Given the description of an element on the screen output the (x, y) to click on. 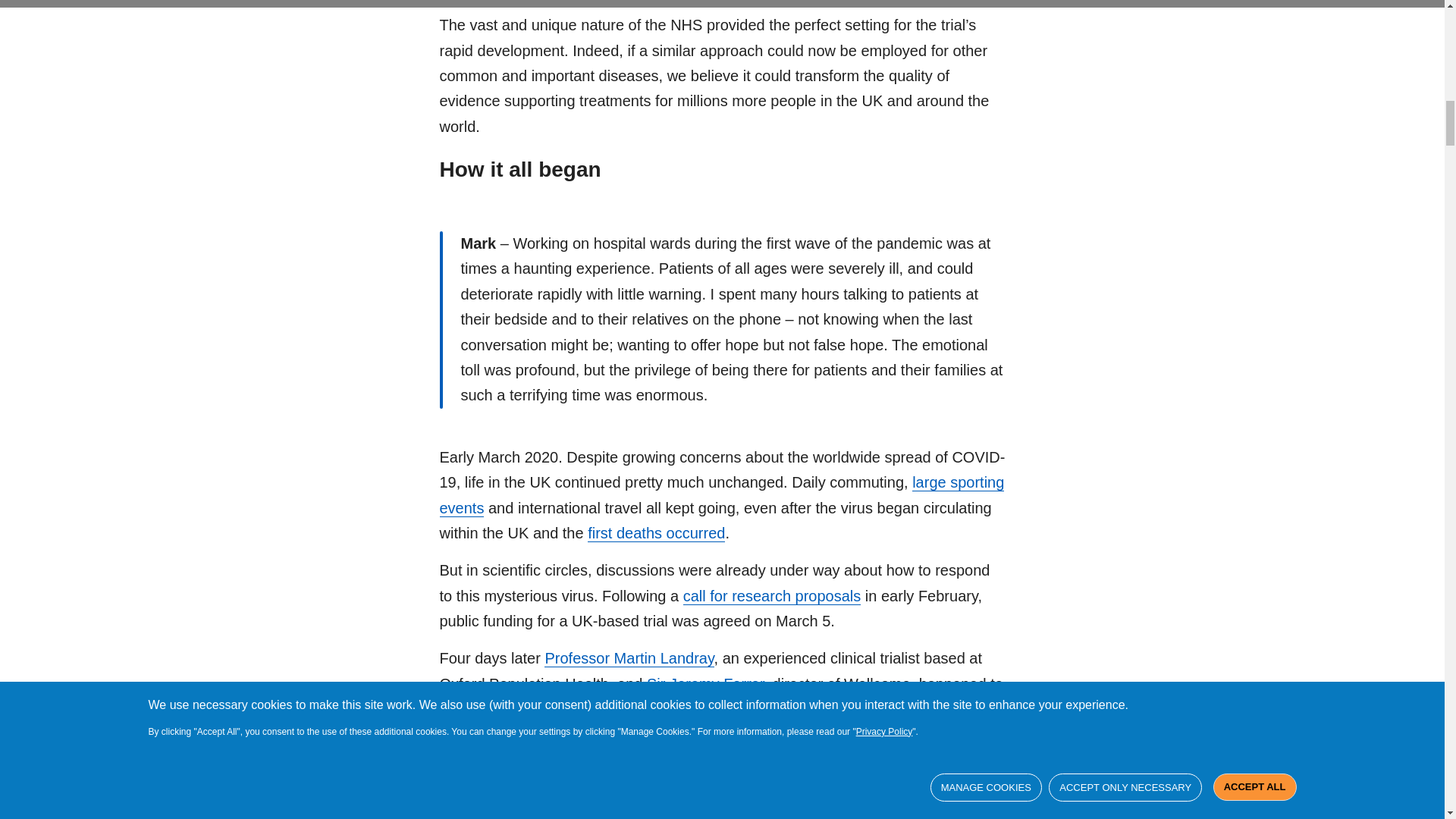
first deaths occurred (656, 533)
large sporting events (721, 495)
